Given the description of an element on the screen output the (x, y) to click on. 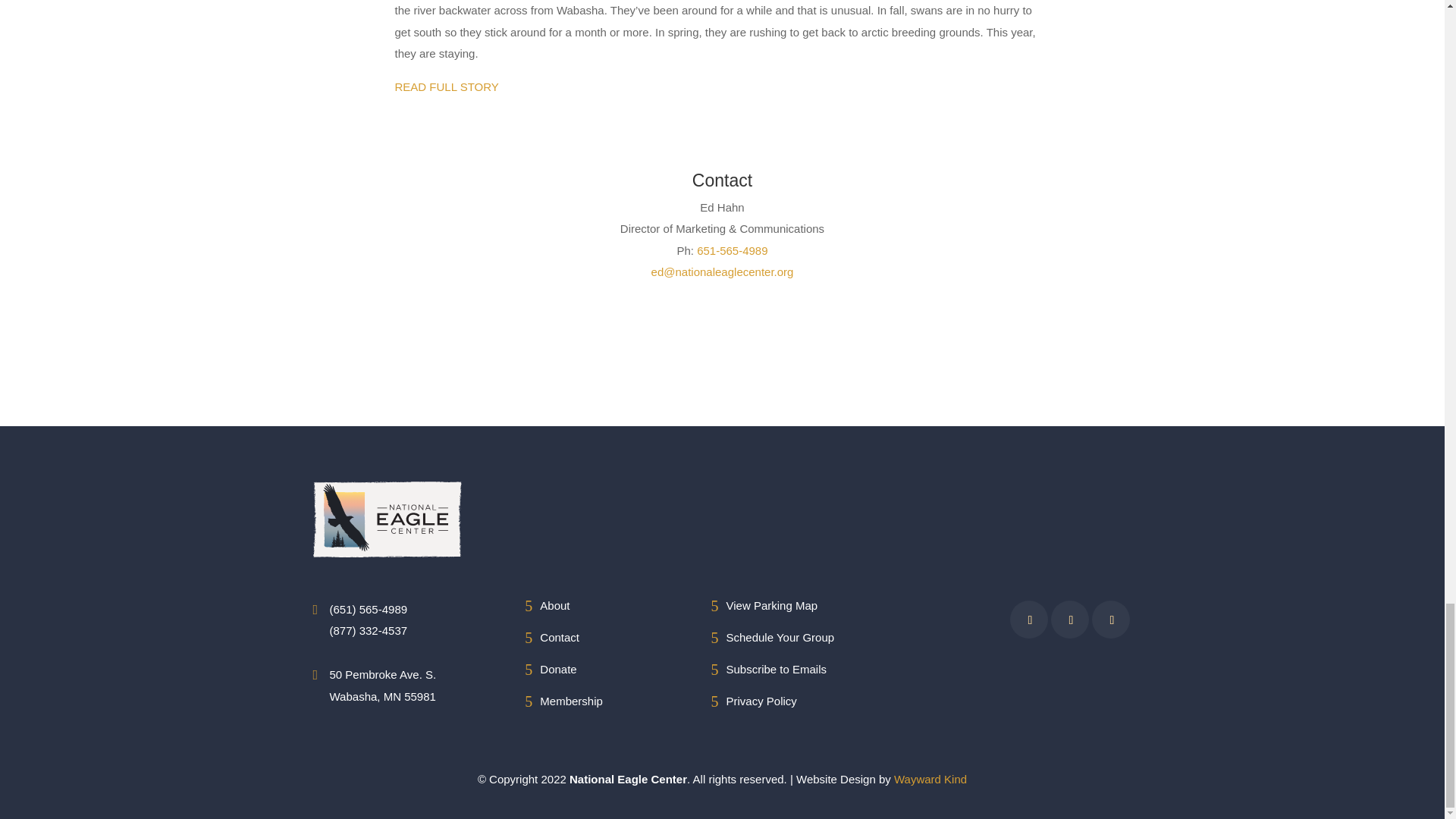
Follow on Instagram (1070, 620)
Follow on Youtube (1111, 620)
Follow on Facebook (1029, 620)
logo-k (387, 518)
